Given the description of an element on the screen output the (x, y) to click on. 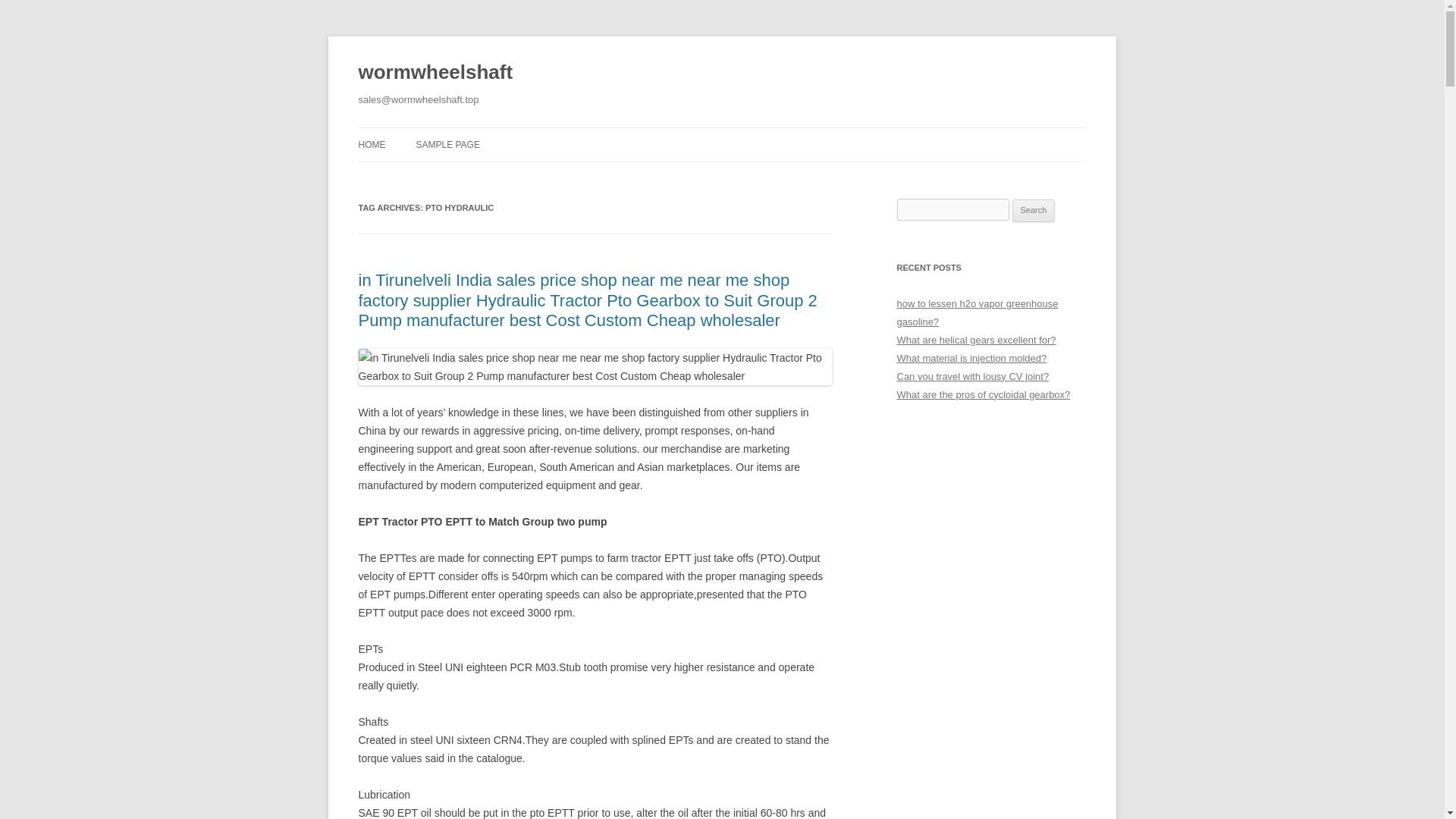
wormwheelshaft (435, 72)
Search (1033, 210)
SAMPLE PAGE (446, 144)
wormwheelshaft (435, 72)
HOME (371, 144)
